Given the description of an element on the screen output the (x, y) to click on. 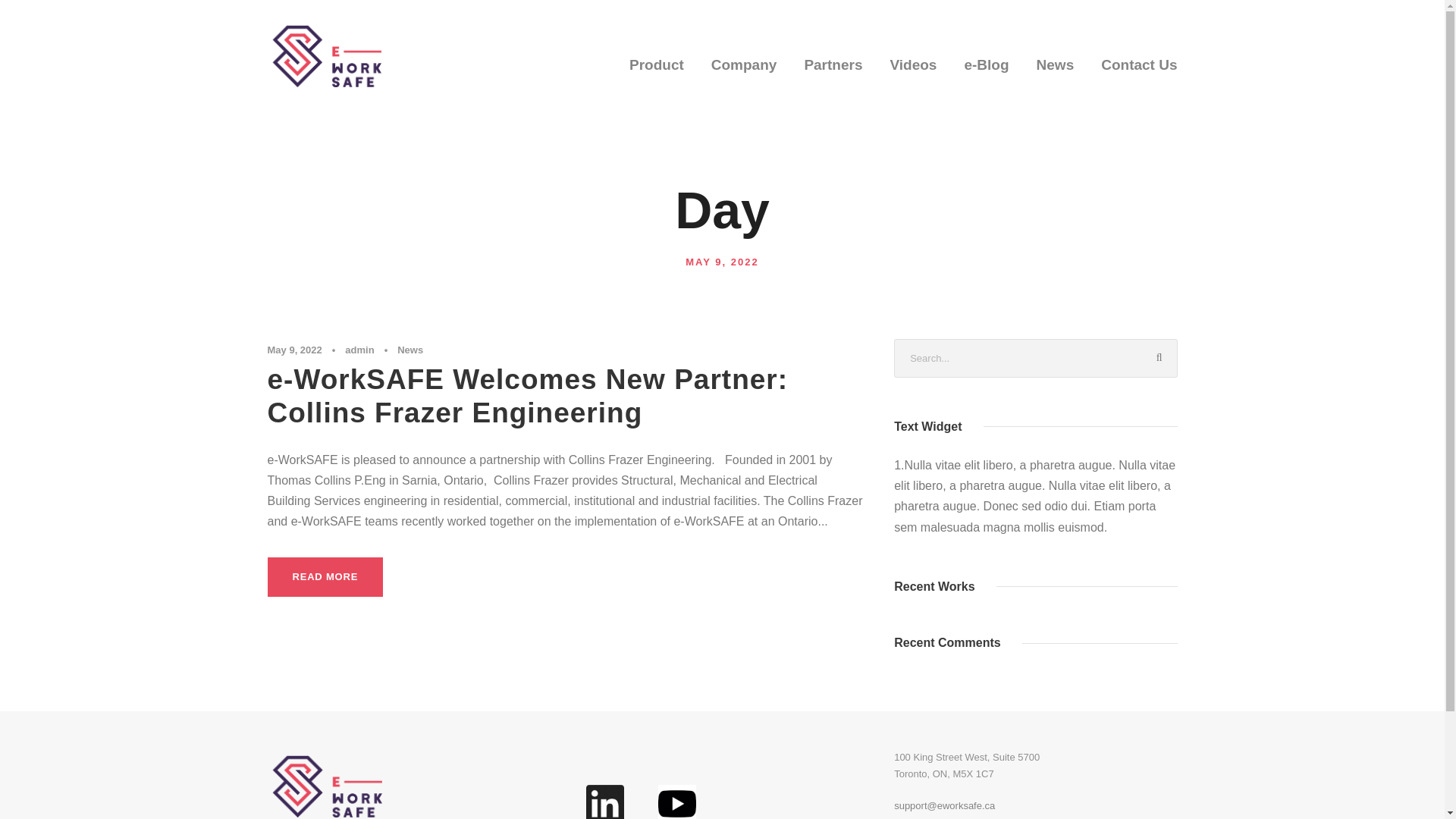
News (410, 349)
e-WorkSAFE (323, 54)
Search (1157, 358)
Company (744, 74)
Partners (832, 74)
Product (656, 74)
Posts by admin (359, 349)
Contact Us (1138, 74)
